Given the description of an element on the screen output the (x, y) to click on. 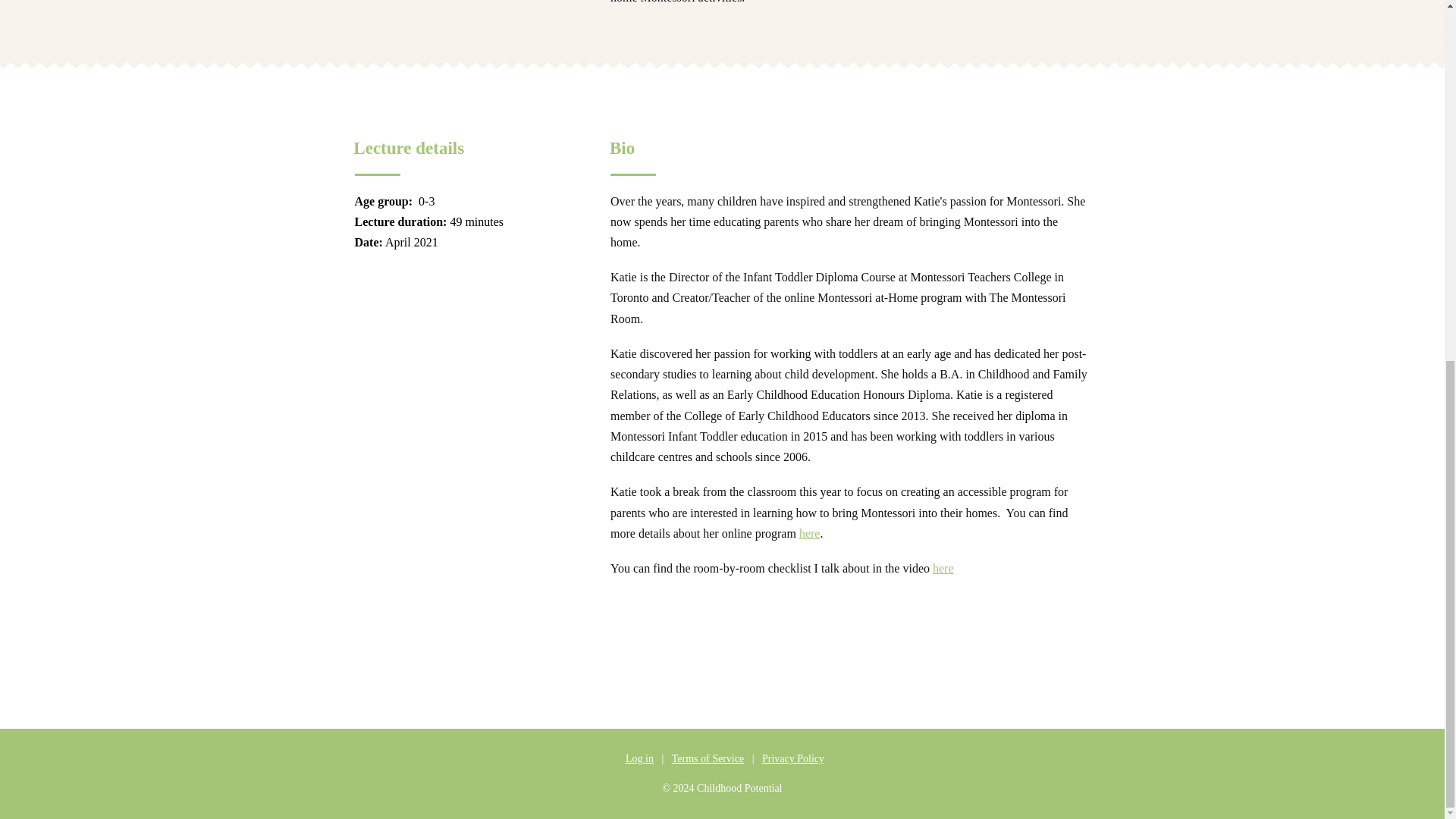
here (810, 533)
here (943, 567)
Log in (639, 758)
Privacy Policy (790, 758)
Browse other lectures (689, 645)
Terms of Service (707, 758)
Go to purchase form (867, 645)
